Given the description of an element on the screen output the (x, y) to click on. 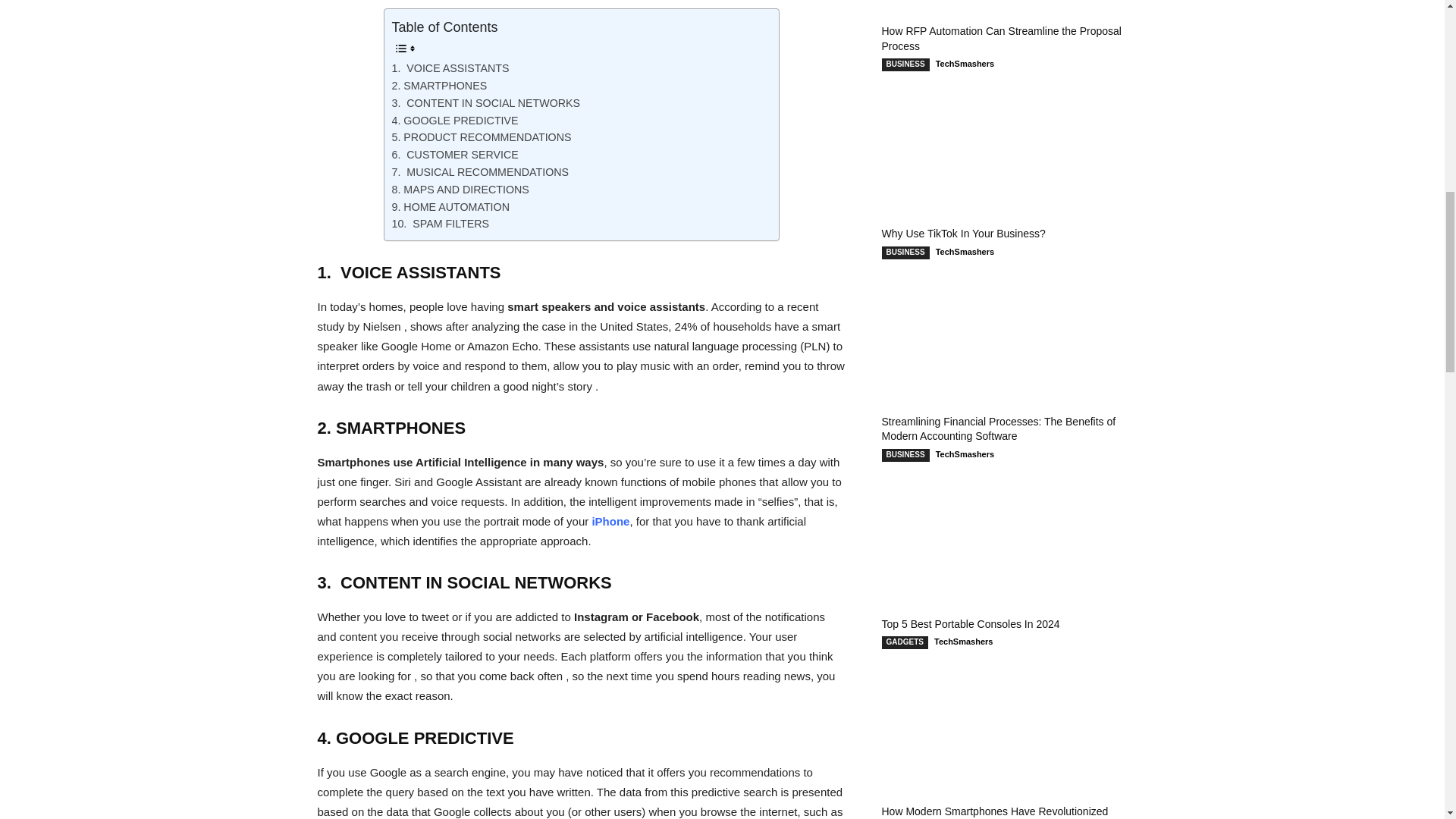
2. SMARTPHONES (438, 85)
4. GOOGLE PREDICTIVE (454, 120)
